Given the description of an element on the screen output the (x, y) to click on. 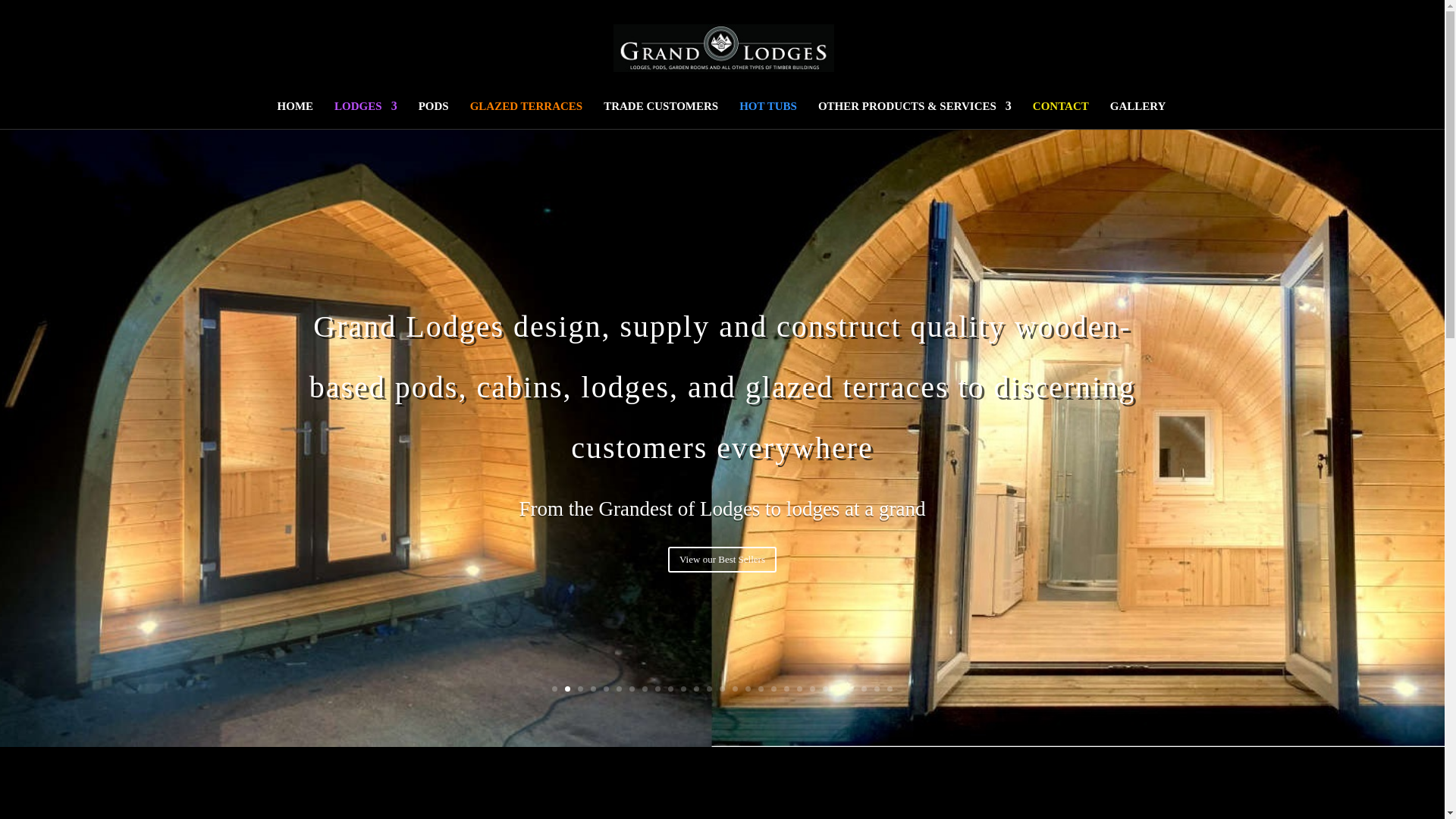
HOME (296, 114)
TRADE CUSTOMERS (660, 114)
GLAZED TERRACES (526, 114)
LODGES (365, 114)
PODS (433, 114)
HOT TUBS (767, 114)
GALLERY (1137, 114)
CONTACT (1060, 114)
